Given the description of an element on the screen output the (x, y) to click on. 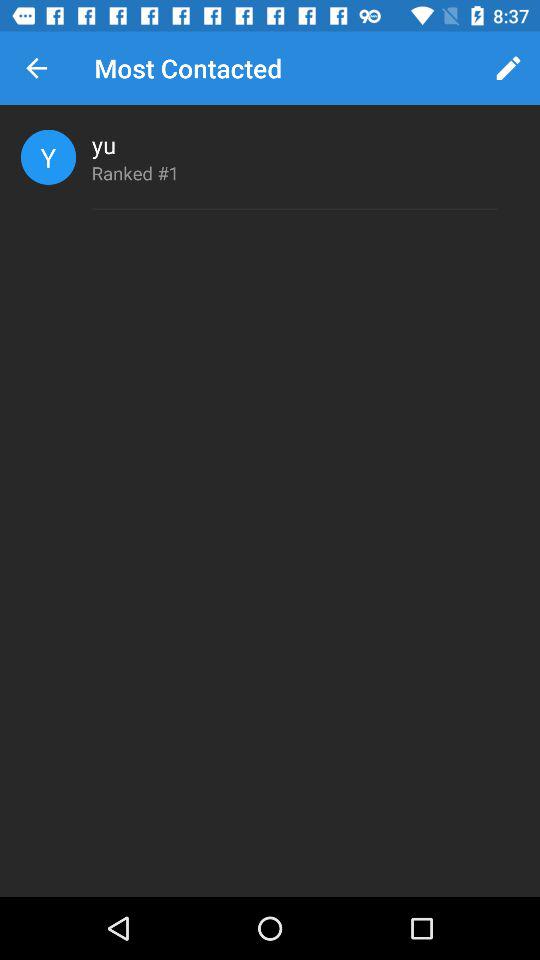
open the item below the ranked #1 icon (294, 209)
